Given the description of an element on the screen output the (x, y) to click on. 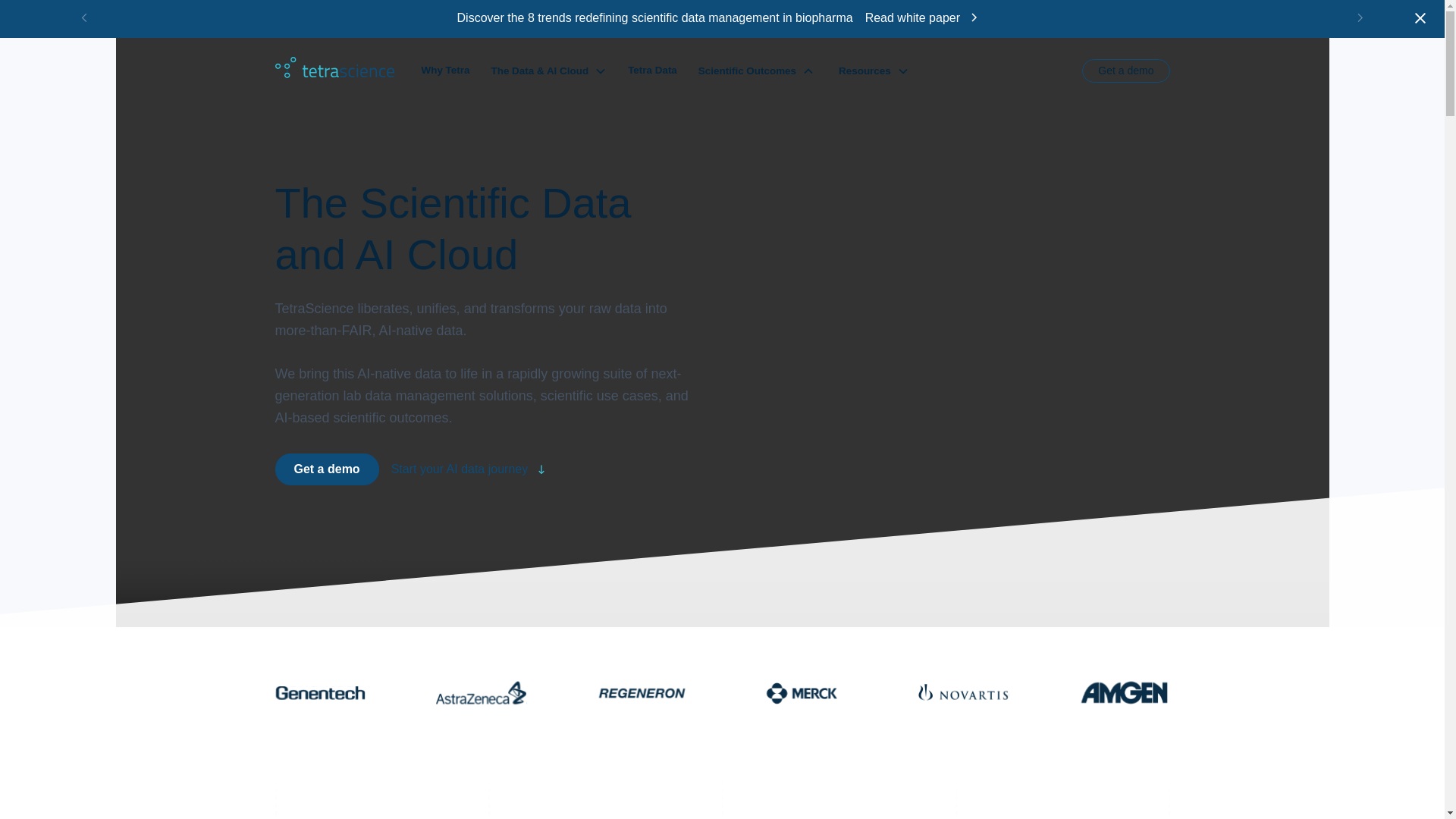
Why Tetra (446, 70)
Read white paper (940, 17)
Tetra Data (652, 70)
